Given the description of an element on the screen output the (x, y) to click on. 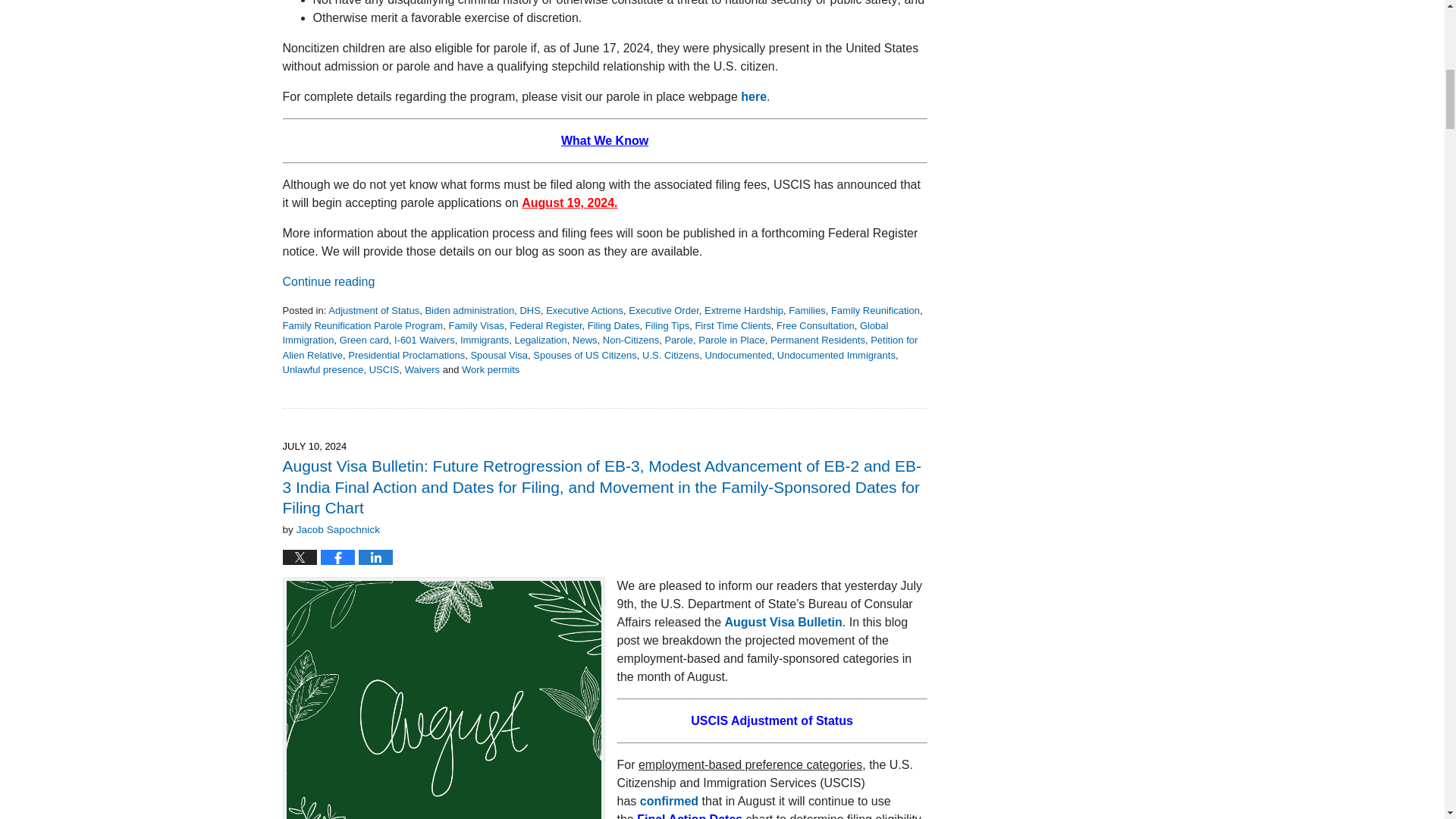
I-601 Waivers (424, 339)
Extreme Hardship (743, 310)
Federal Register (544, 325)
Family Reunification (875, 310)
View all posts in Executive Actions (584, 310)
here (754, 96)
View all posts in Families (807, 310)
View all posts in Executive Order (663, 310)
Immigrants (484, 339)
View all posts in Family Visas (475, 325)
View all posts in Extreme Hardship (743, 310)
Global Immigration (585, 333)
First Time Clients (732, 325)
View all posts in Family Reunification (875, 310)
DHS (529, 310)
